Given the description of an element on the screen output the (x, y) to click on. 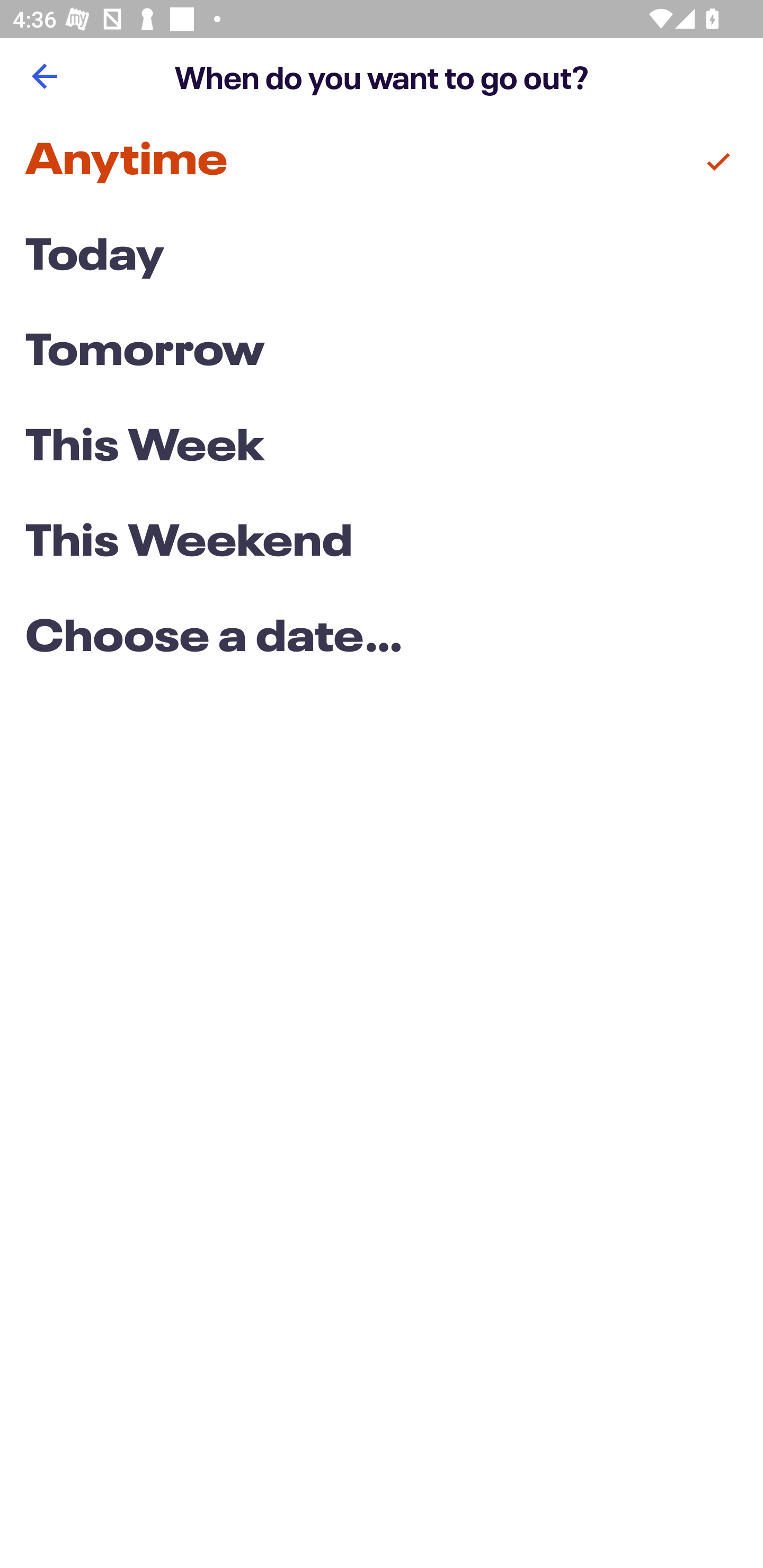
Back button (44, 75)
Anytime (381, 161)
Today (381, 257)
Tomorrow (381, 352)
This Week (381, 447)
This Weekend (381, 542)
Choose a date… (381, 638)
